Given the description of an element on the screen output the (x, y) to click on. 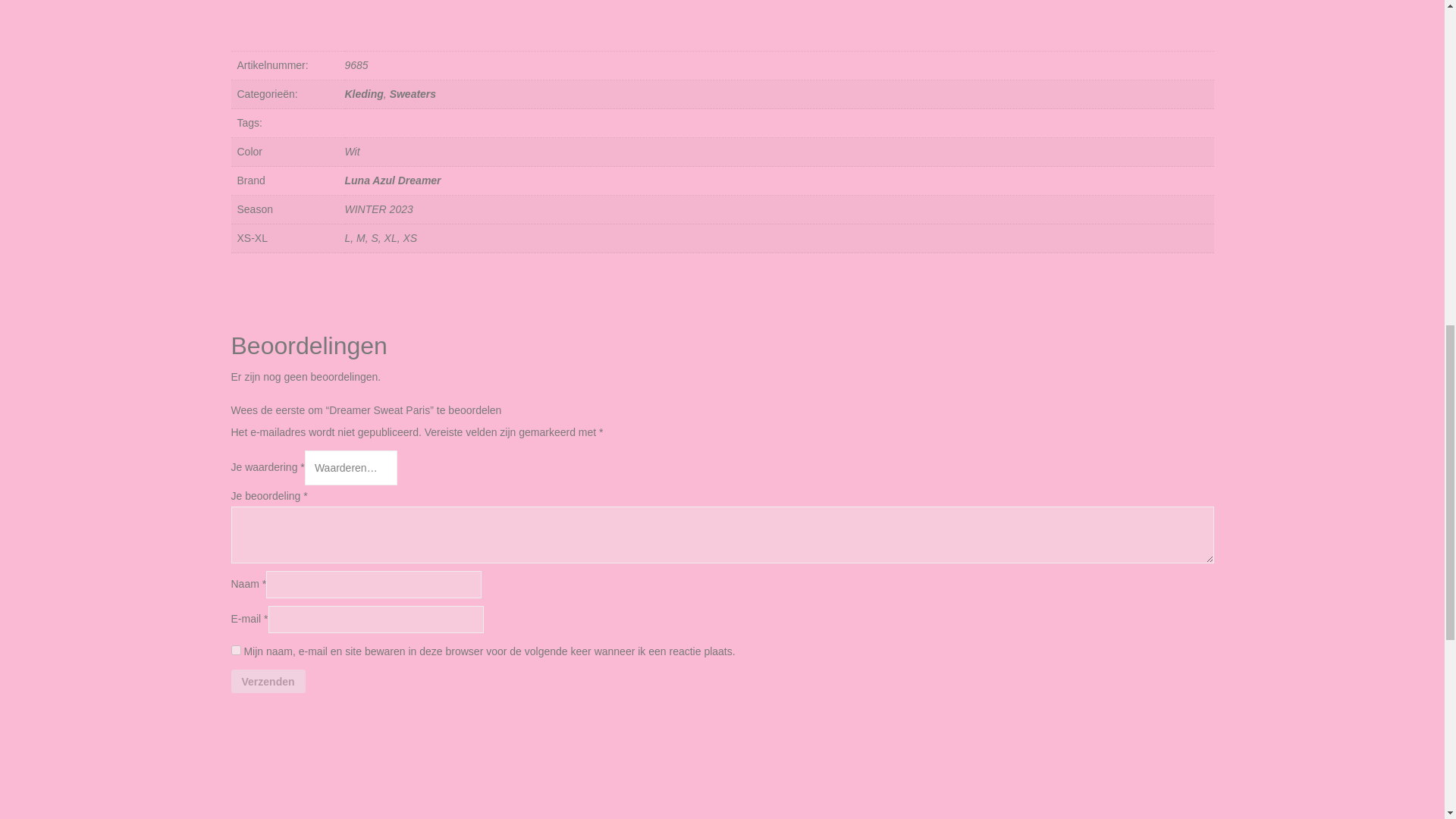
Verzenden (267, 680)
yes (235, 650)
